Given the description of an element on the screen output the (x, y) to click on. 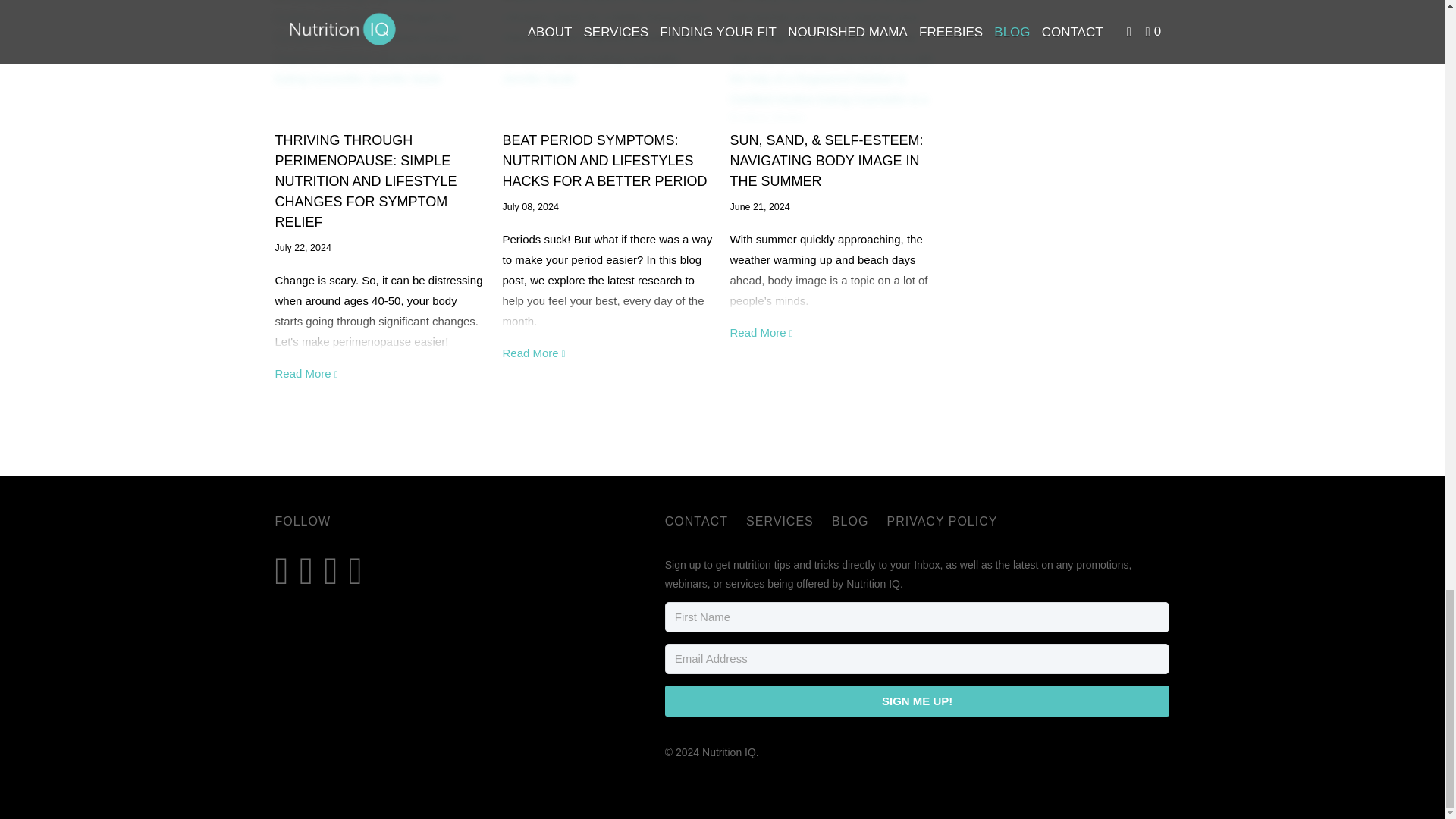
Read More (307, 373)
